Given the description of an element on the screen output the (x, y) to click on. 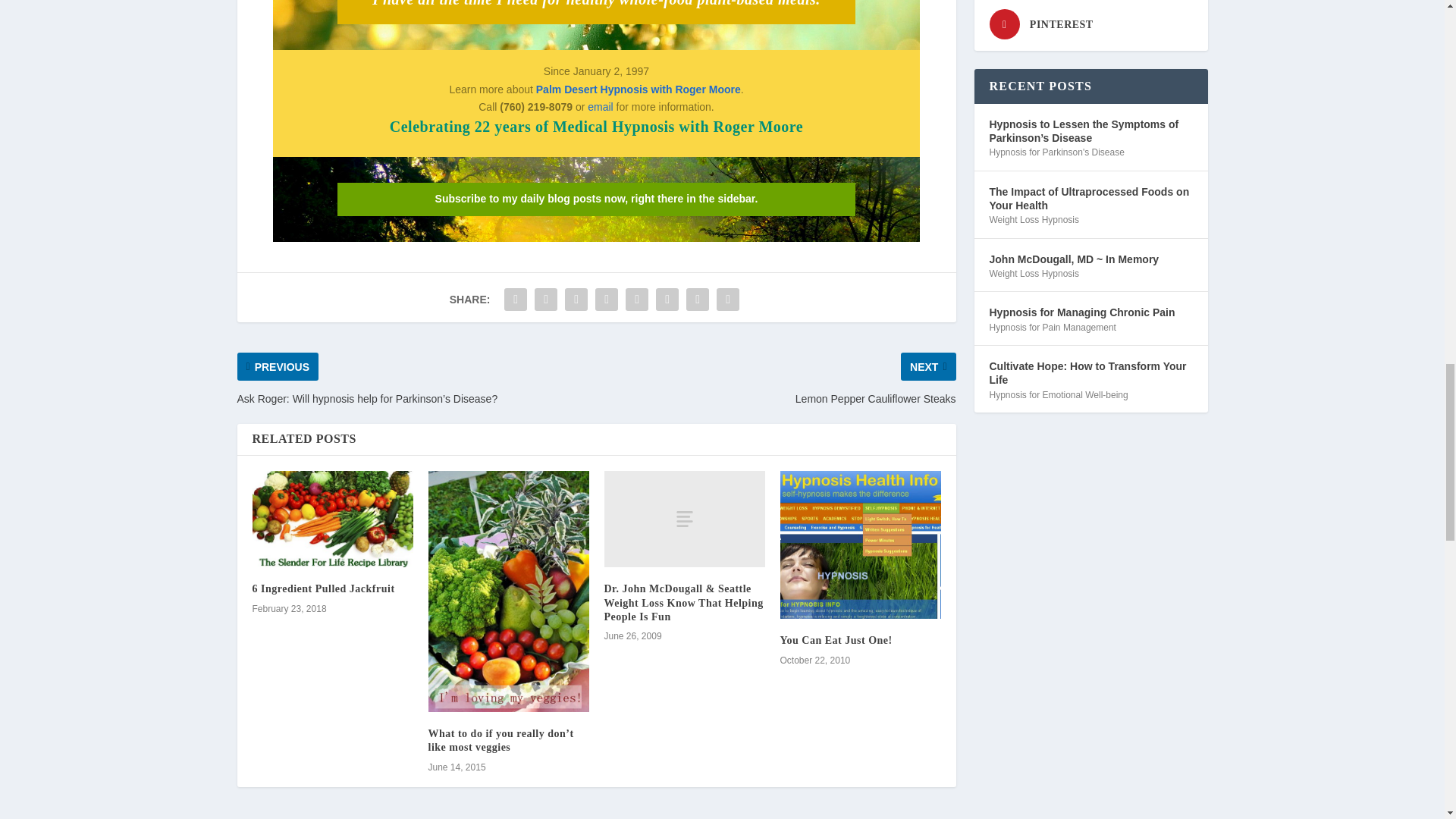
Share "Time to cook or time for your doctor" via Email (697, 299)
Share "Time to cook or time for your doctor" via Tumblr (606, 299)
Share "Time to cook or time for your doctor" via Facebook (515, 299)
Share "Time to cook or time for your doctor" via Twitter (545, 299)
Share "Time to cook or time for your doctor" via Pinterest (636, 299)
Share "Time to cook or time for your doctor" via LinkedIn (667, 299)
Share "Time to cook or time for your doctor" via Print (727, 299)
